Given the description of an element on the screen output the (x, y) to click on. 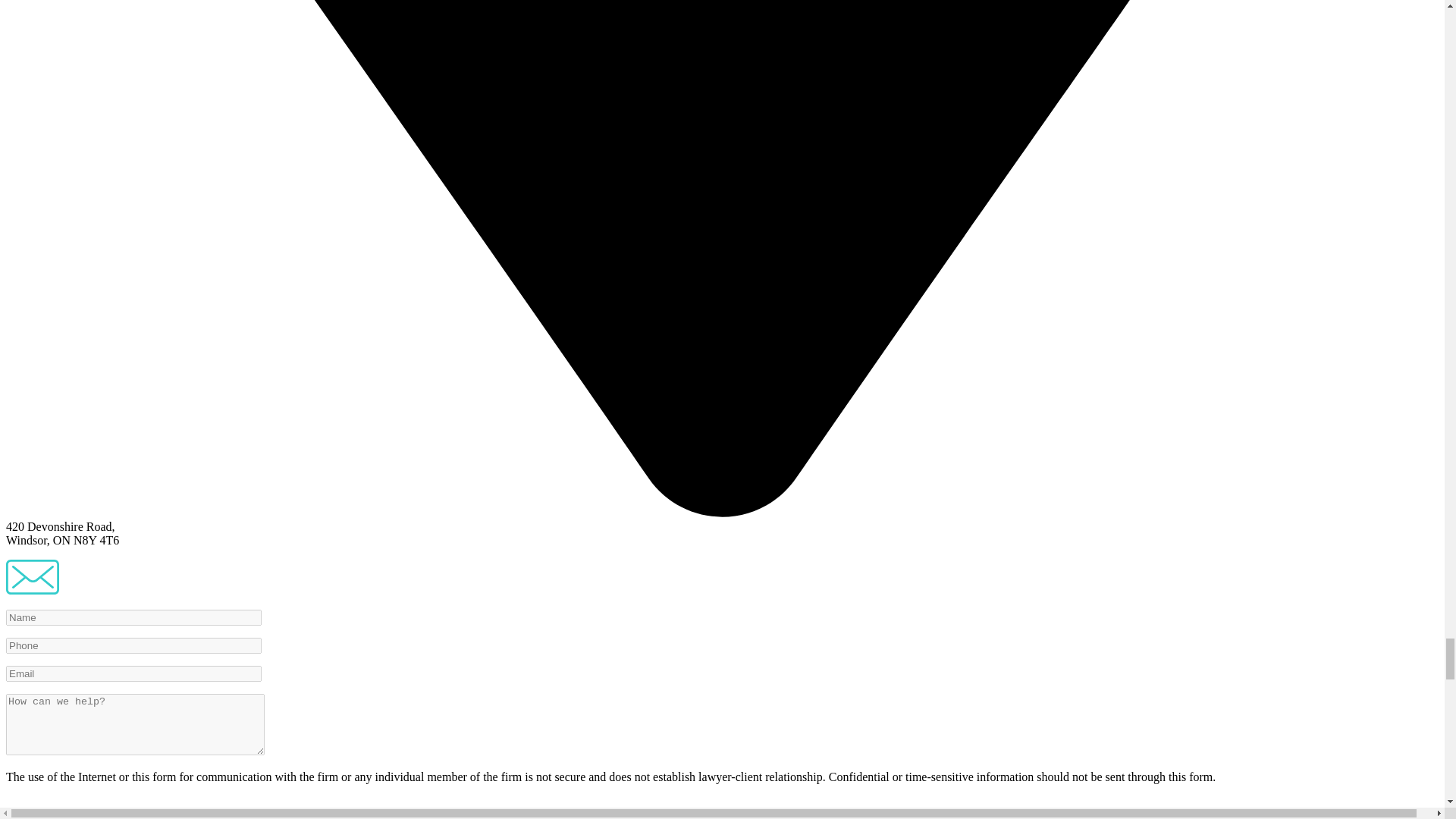
1 (13, 815)
